Given the description of an element on the screen output the (x, y) to click on. 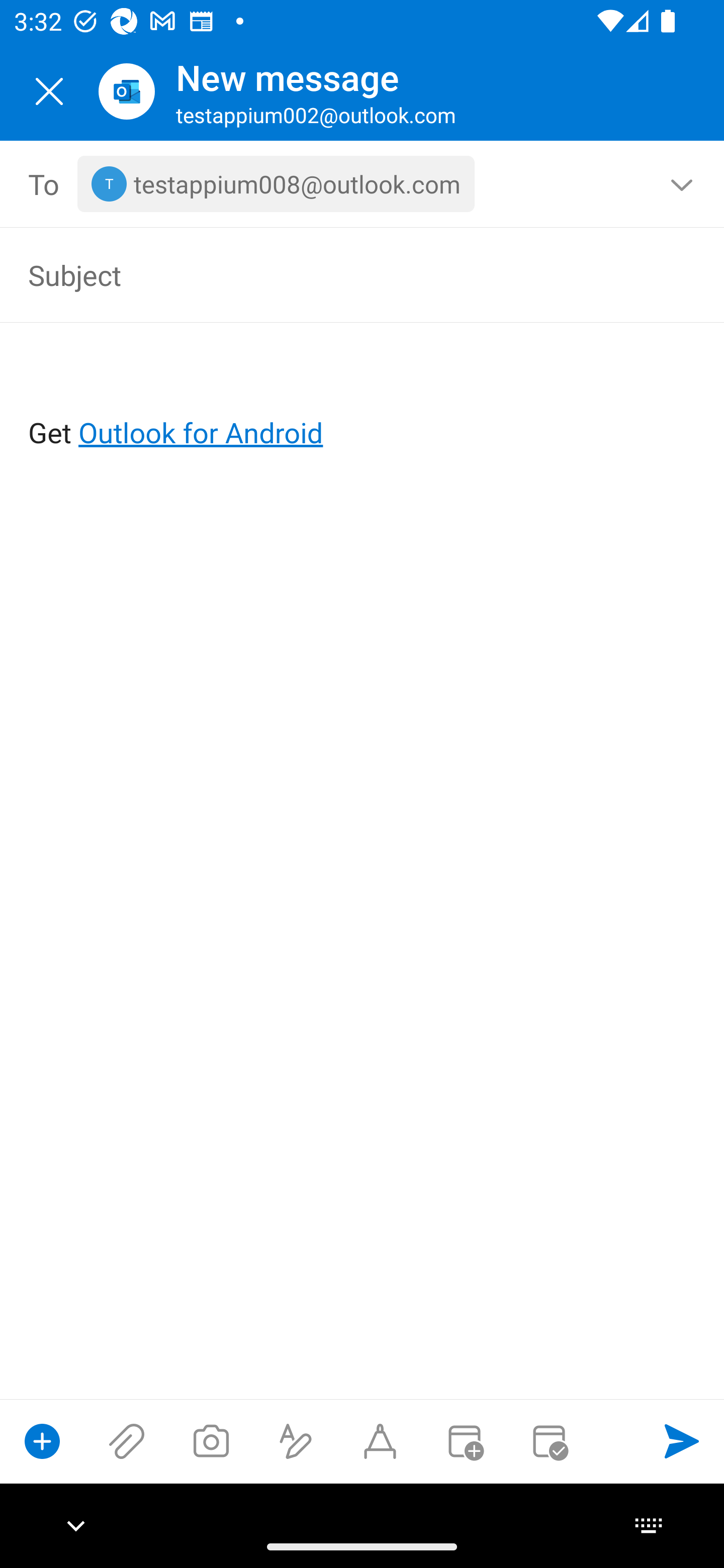
Close (49, 91)
To, 1 recipient <testappium008@outlook.com> (362, 184)
Subject (333, 274)


Get Outlook for Android (363, 400)
Show compose options (42, 1440)
Attach files (126, 1440)
Take a photo (210, 1440)
Show formatting options (295, 1440)
Start Ink compose (380, 1440)
Convert to event (464, 1440)
Send availability (548, 1440)
Send (681, 1440)
